Given the description of an element on the screen output the (x, y) to click on. 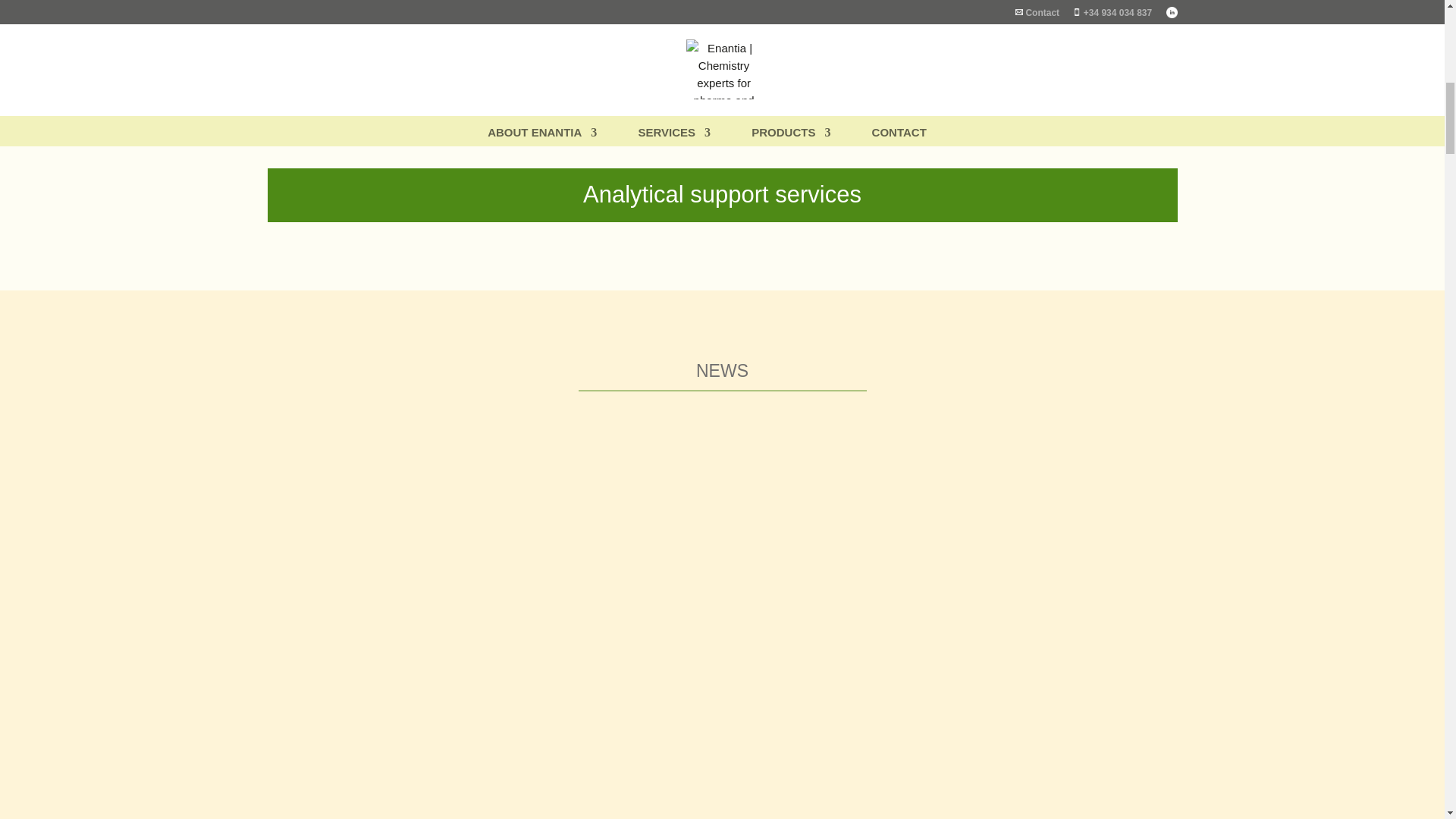
Analytical support services (721, 194)
NEWS (721, 370)
Learn more (632, 74)
Learn more (943, 91)
